Given the description of an element on the screen output the (x, y) to click on. 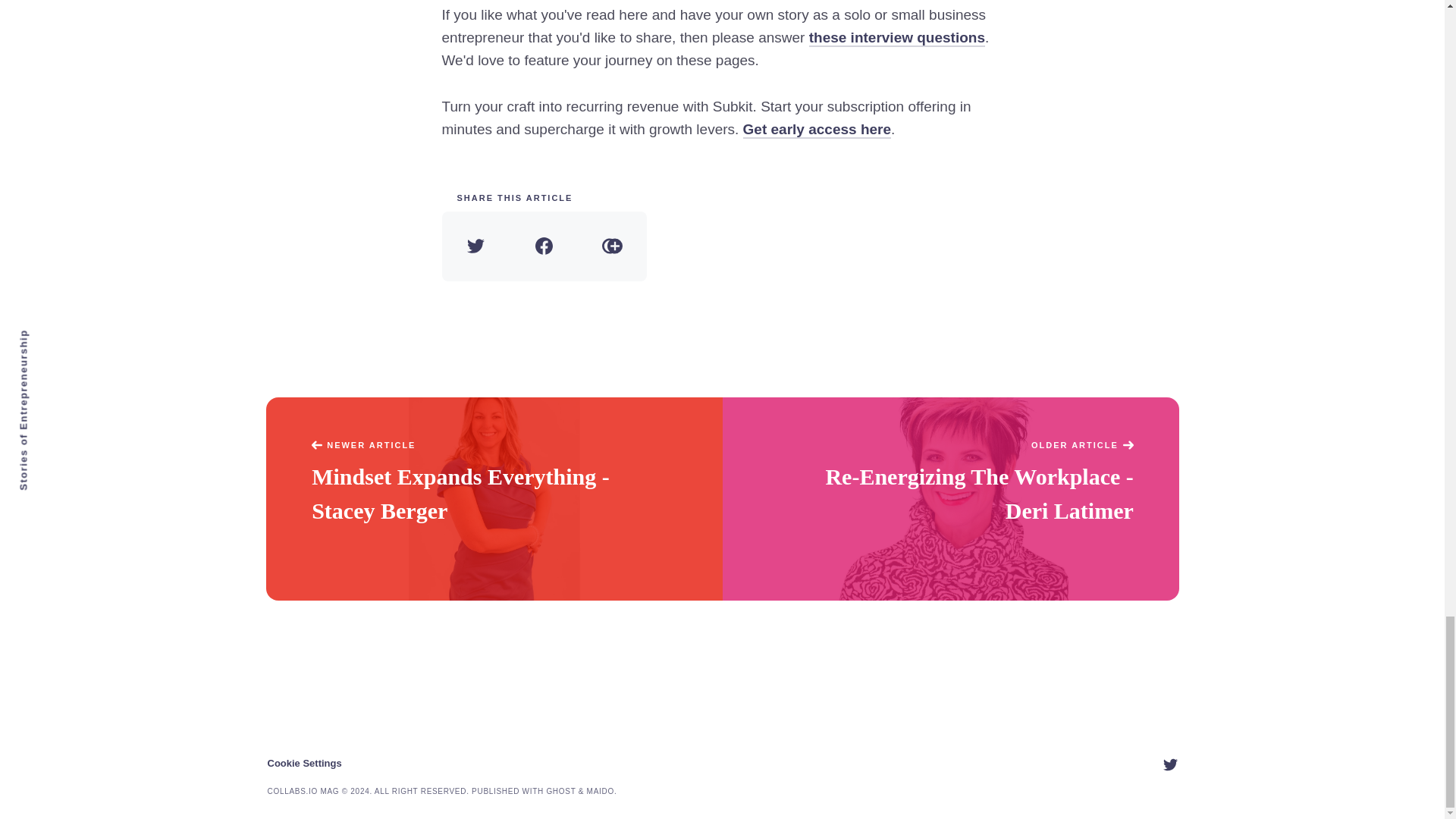
Cookie Settings (303, 763)
GHOST (560, 791)
these interview questions (897, 37)
COLLABS.IO MAG (302, 791)
Get early access here (816, 129)
MAIDO (600, 791)
